Given the description of an element on the screen output the (x, y) to click on. 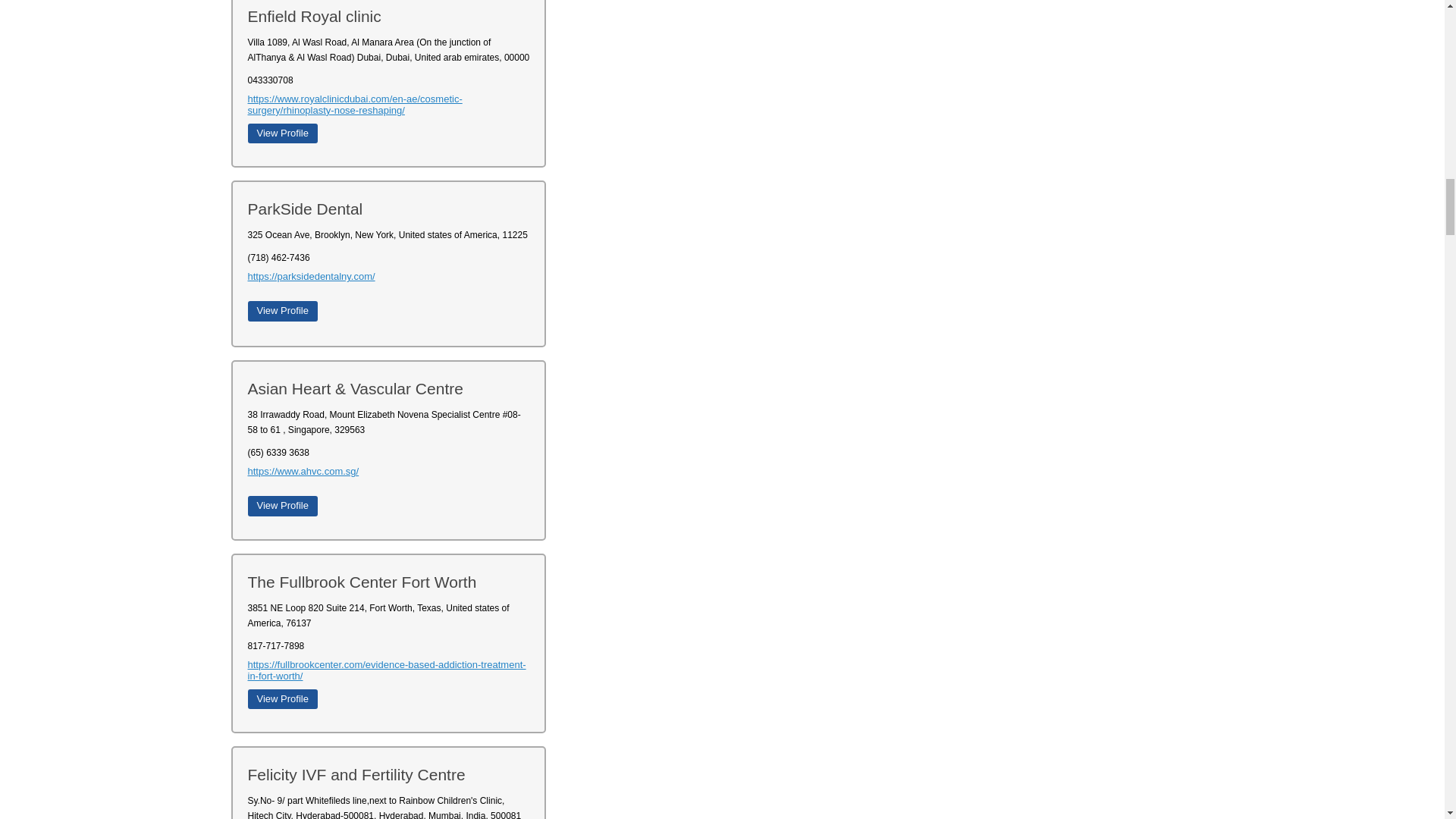
Click here to view profile (282, 505)
Click here to view profile (282, 699)
Click here to view profile (282, 133)
Click here to view profile (282, 311)
